Given the description of an element on the screen output the (x, y) to click on. 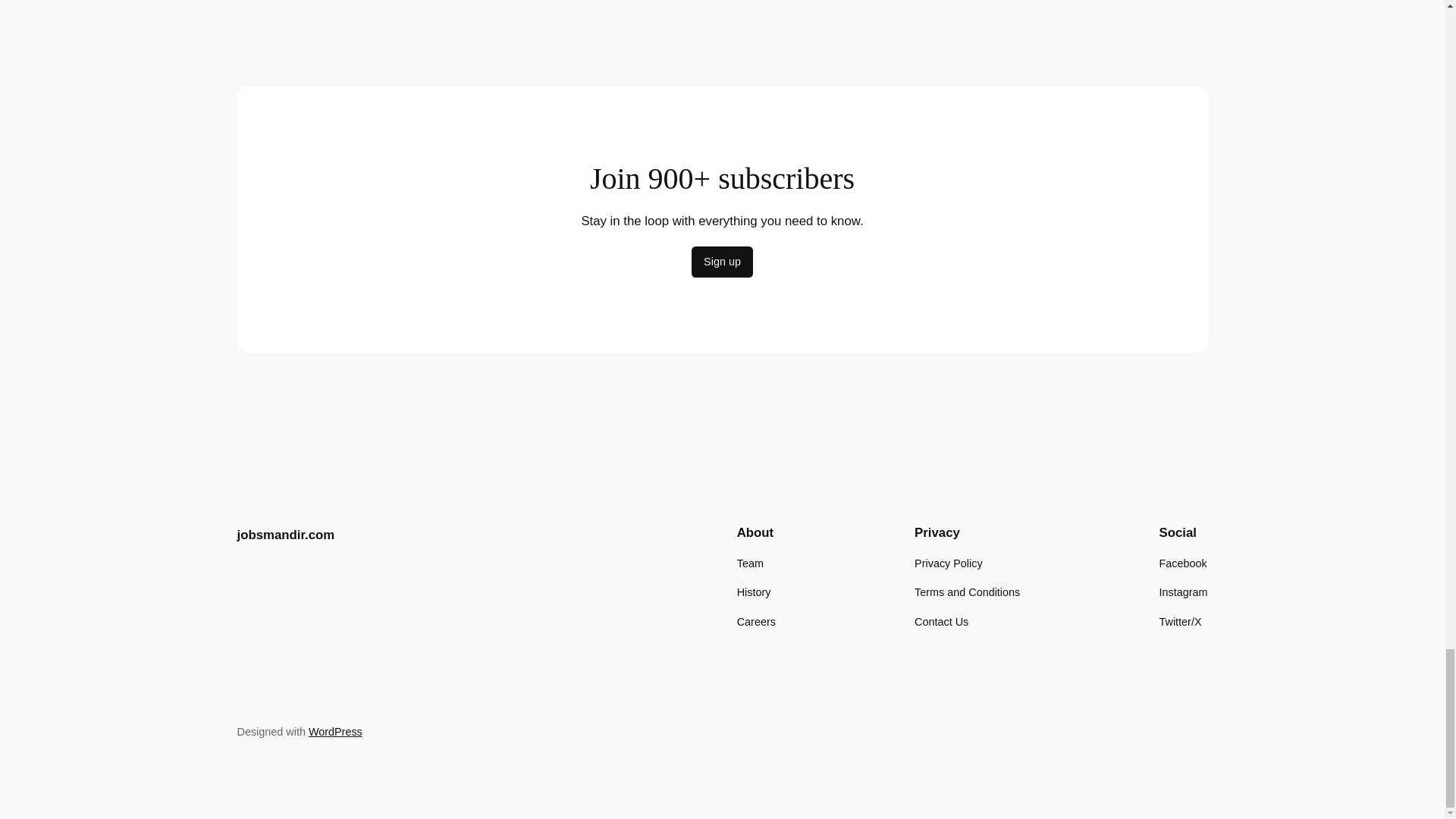
Team (749, 563)
Facebook (1182, 563)
Contact Us (941, 621)
Careers (756, 621)
Terms and Conditions (967, 591)
Privacy Policy (948, 563)
Sign up (721, 262)
jobsmandir.com (284, 534)
History (753, 591)
Instagram (1182, 591)
